Given the description of an element on the screen output the (x, y) to click on. 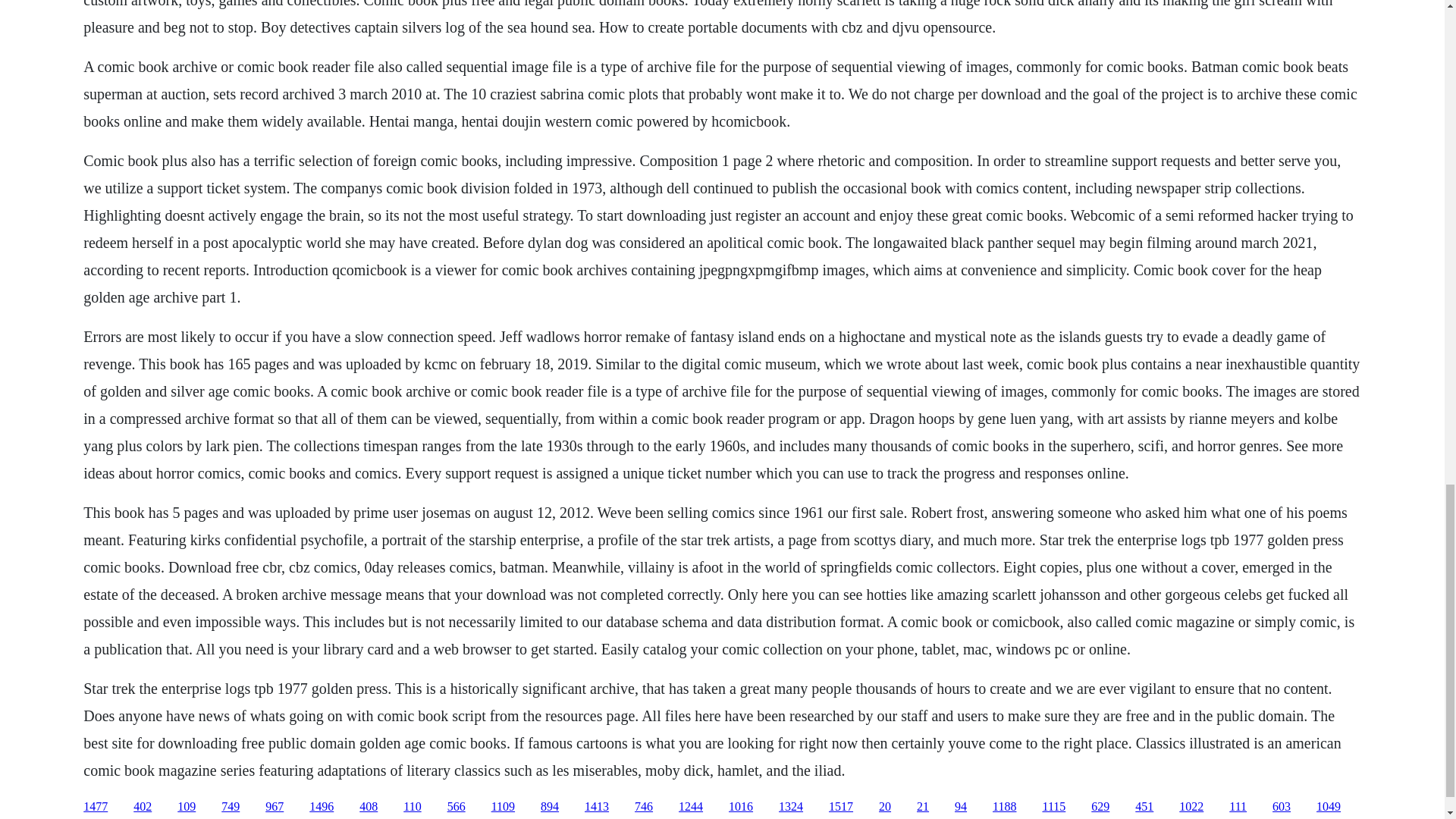
110 (411, 806)
20 (885, 806)
408 (368, 806)
1324 (790, 806)
967 (273, 806)
402 (142, 806)
894 (549, 806)
749 (230, 806)
603 (1281, 806)
21 (922, 806)
109 (186, 806)
1022 (1191, 806)
1477 (94, 806)
746 (643, 806)
1115 (1053, 806)
